Given the description of an element on the screen output the (x, y) to click on. 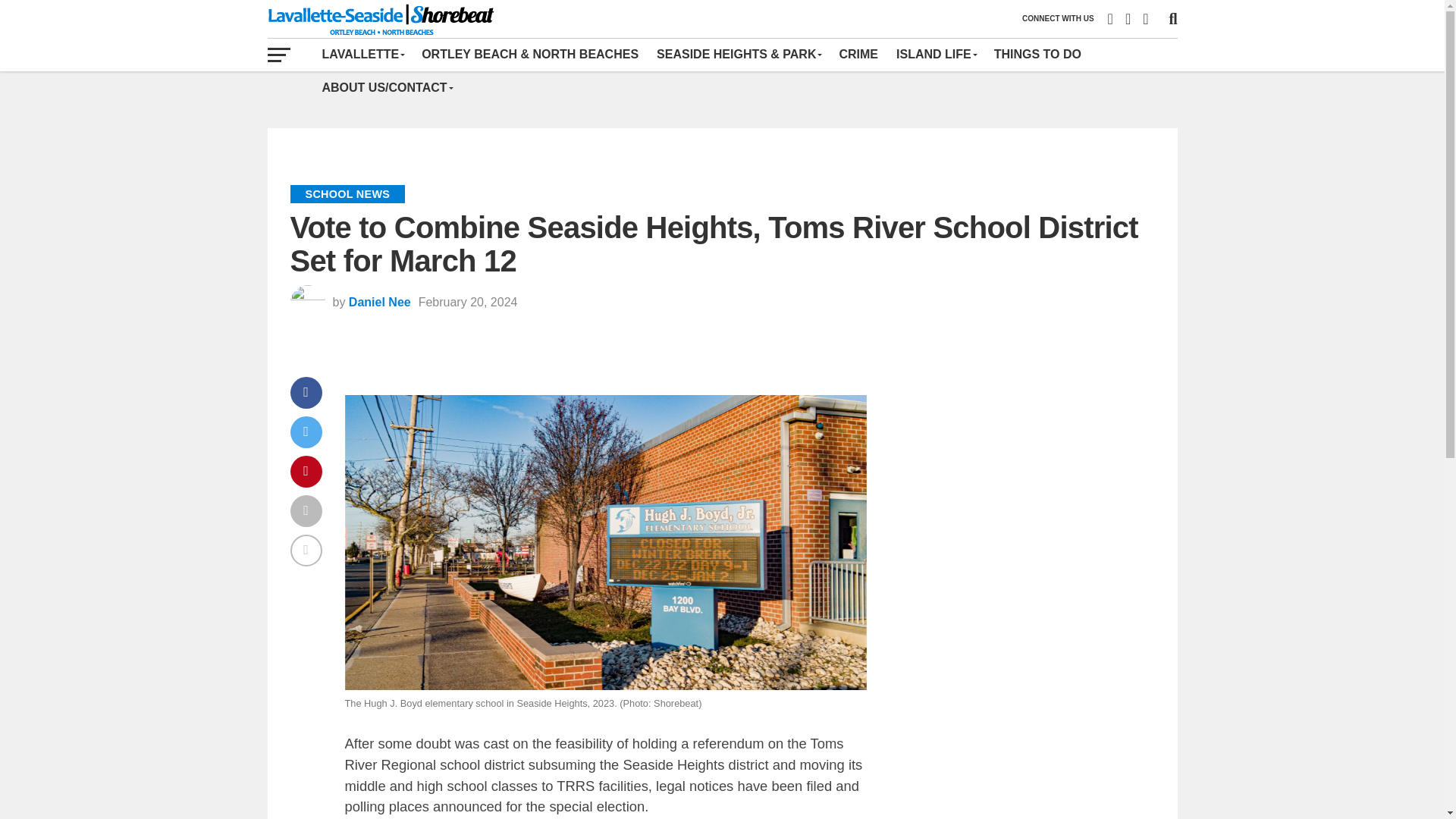
CRIME (857, 54)
Posts by Daniel Nee (379, 301)
LAVALLETTE (362, 54)
THINGS TO DO (1037, 54)
ISLAND LIFE (935, 54)
